Given the description of an element on the screen output the (x, y) to click on. 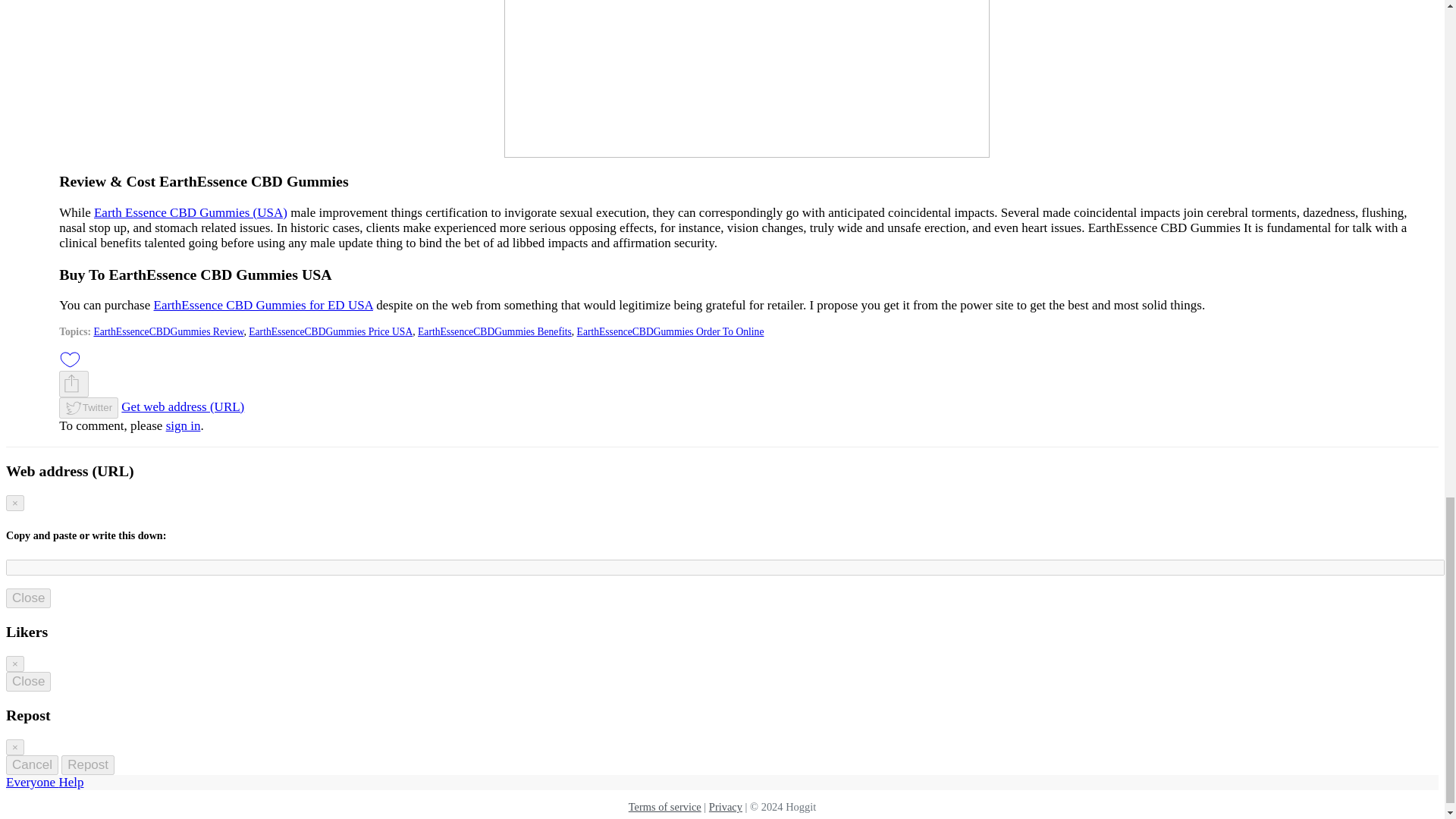
Share (73, 384)
Close (27, 598)
Like (70, 359)
EarthEssenceCBDGummies Order To Online (670, 331)
EarthEssence CBD Gummies for ED USA (263, 305)
EarthEssenceCBDGummies Price USA (330, 331)
Like (70, 358)
EarthEssenceCBDGummies Benefits (494, 331)
Share (71, 383)
Twitter (88, 408)
